Given the description of an element on the screen output the (x, y) to click on. 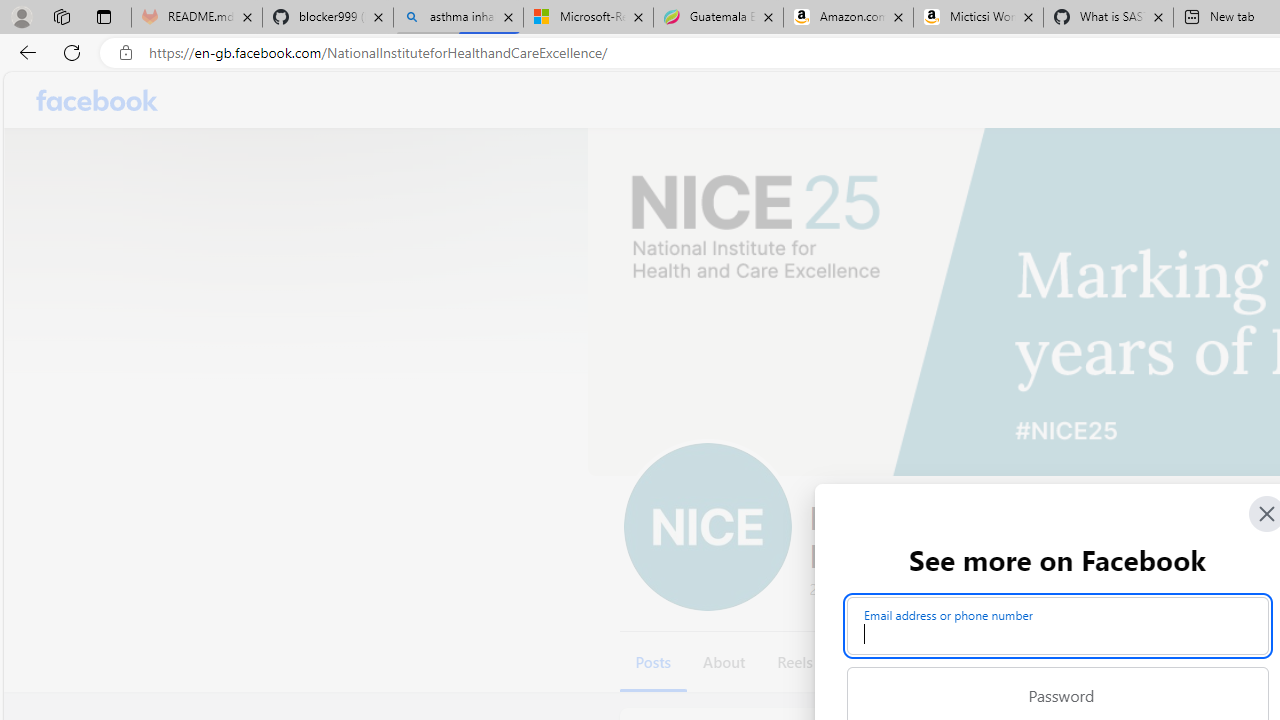
asthma inhaler - Search (458, 17)
Email address or phone number (1057, 625)
Facebook (97, 99)
